Given the description of an element on the screen output the (x, y) to click on. 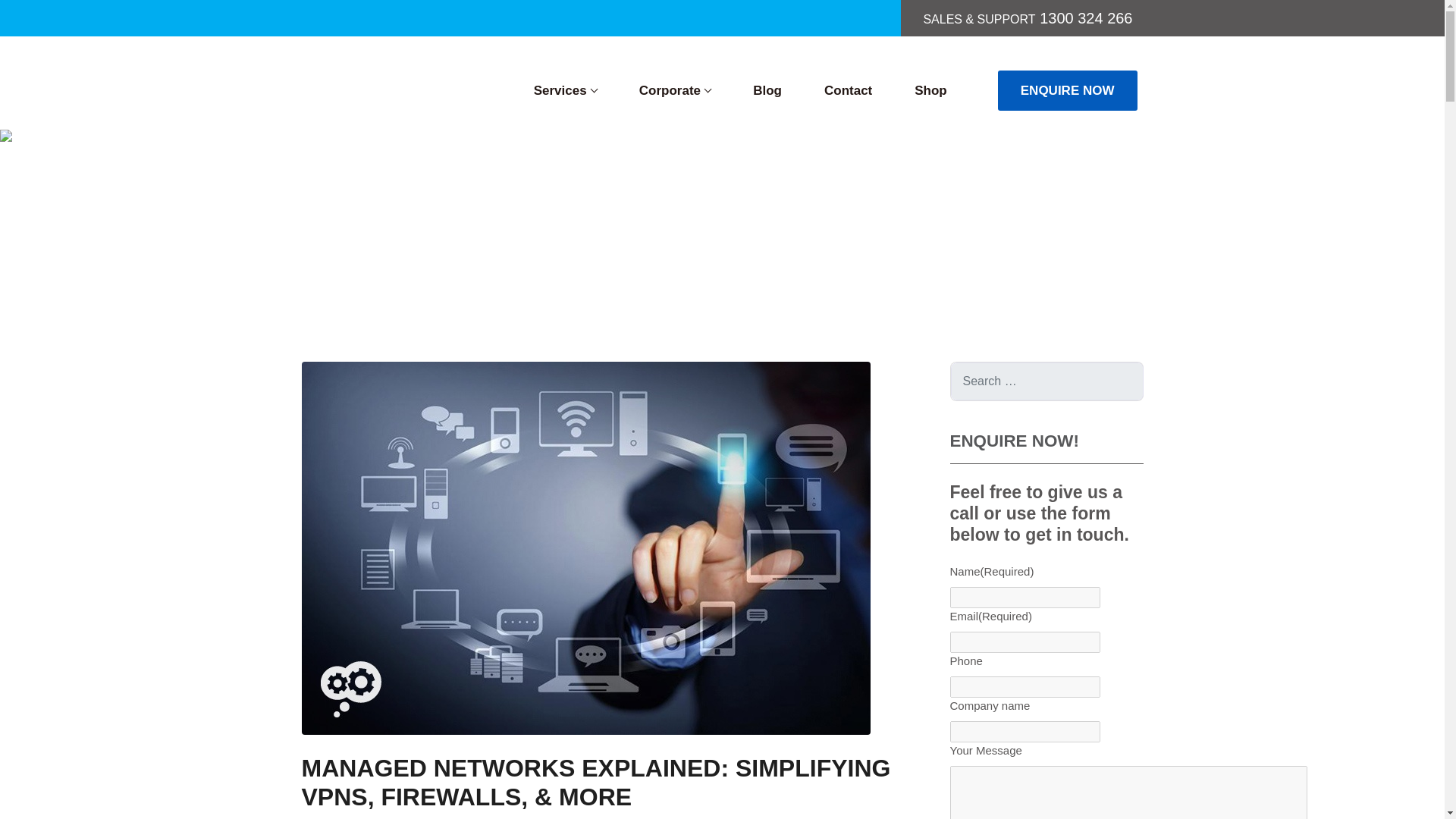
ENQUIRE NOW (1067, 90)
Blog (354, 254)
Shop (930, 90)
Services (564, 90)
Blog (767, 90)
Services (564, 90)
Corporate (674, 90)
Home (316, 254)
Cicom (376, 79)
Cicom (376, 79)
Search (61, 23)
Corporate (674, 90)
Contact (848, 90)
